Given the description of an element on the screen output the (x, y) to click on. 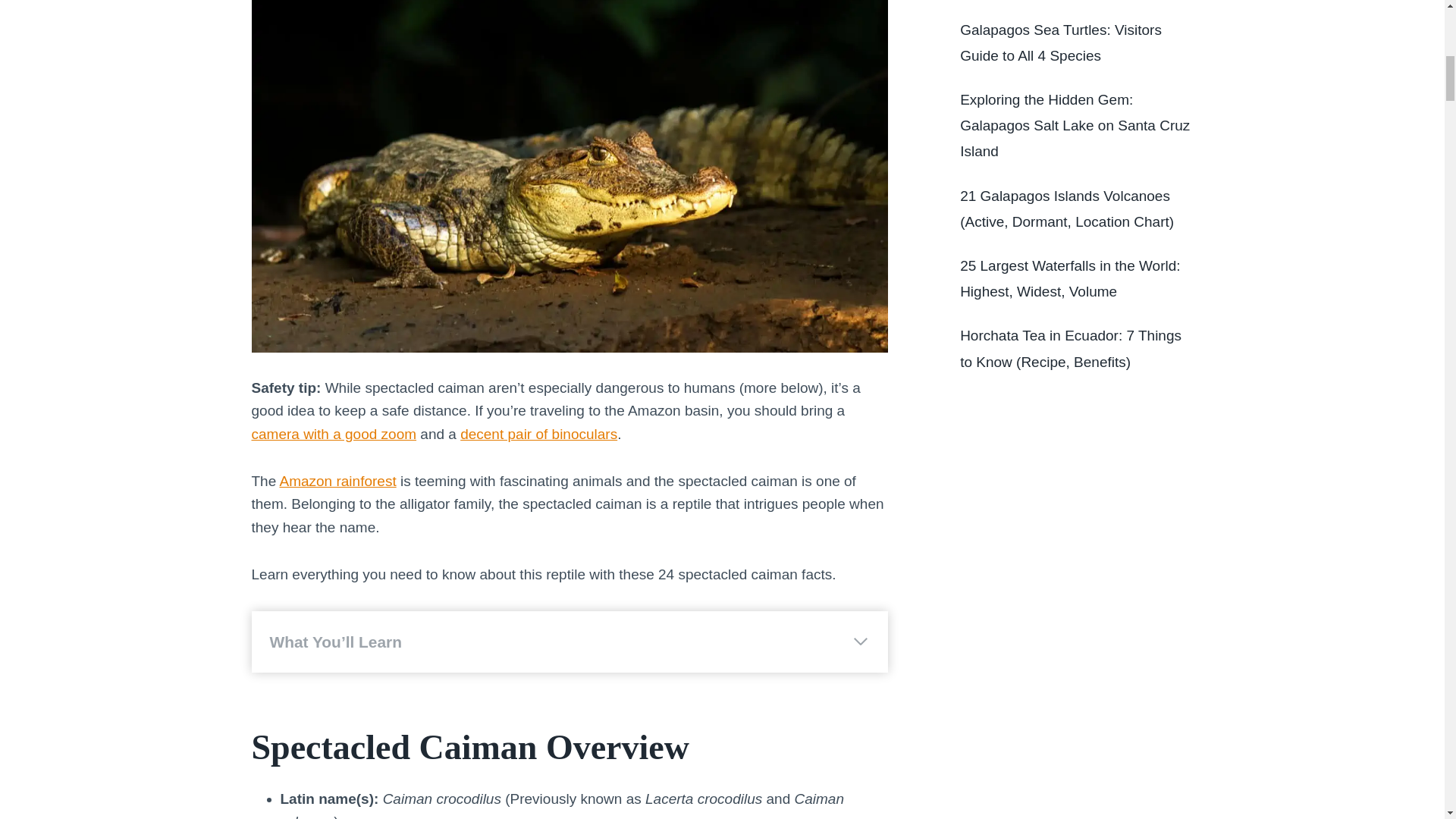
camera with a good zoom (333, 433)
Amazon rainforest (337, 480)
decent pair of binoculars (538, 433)
